Given the description of an element on the screen output the (x, y) to click on. 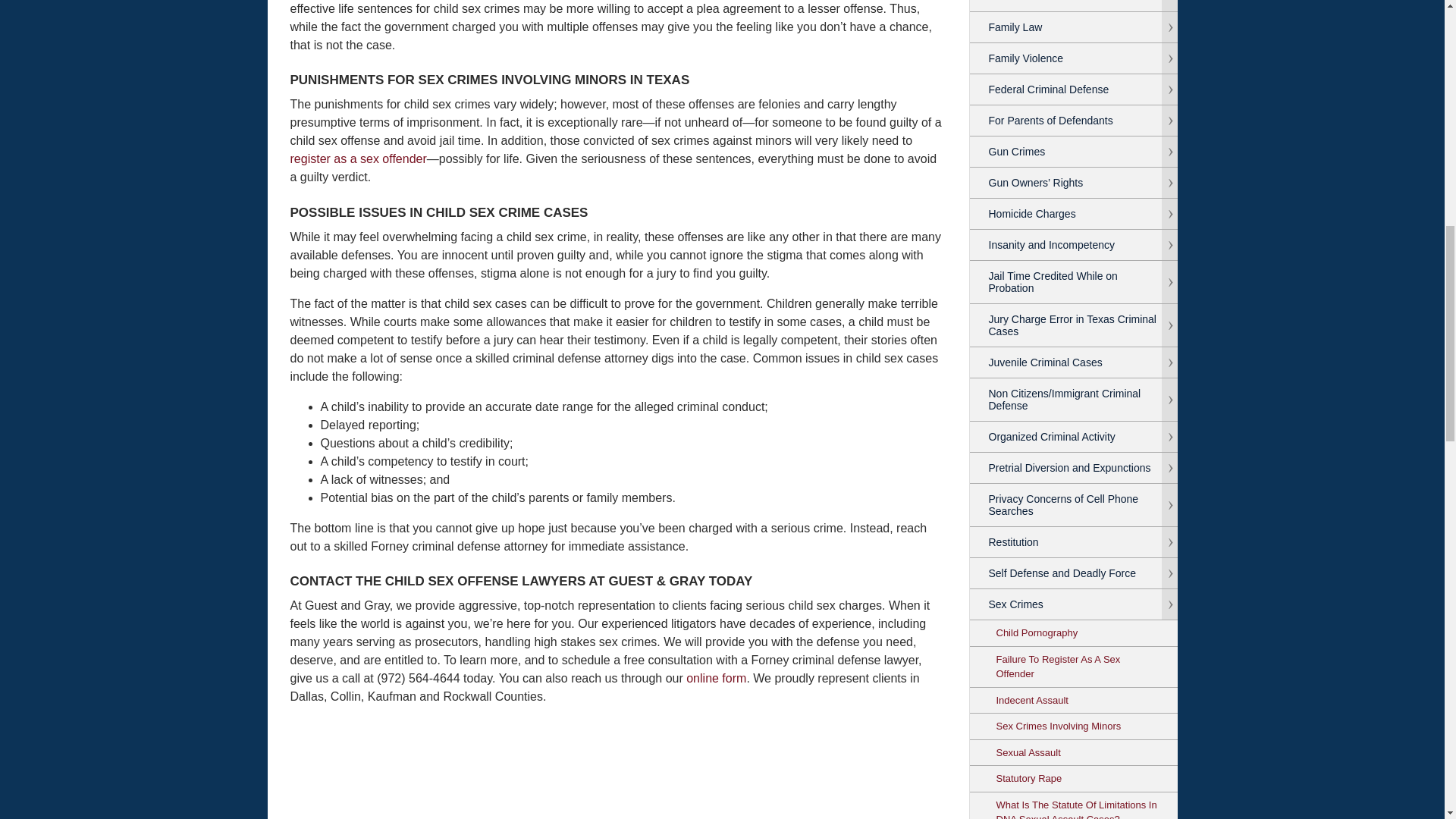
register as a sex offender (357, 158)
online form (715, 677)
